Given the description of an element on the screen output the (x, y) to click on. 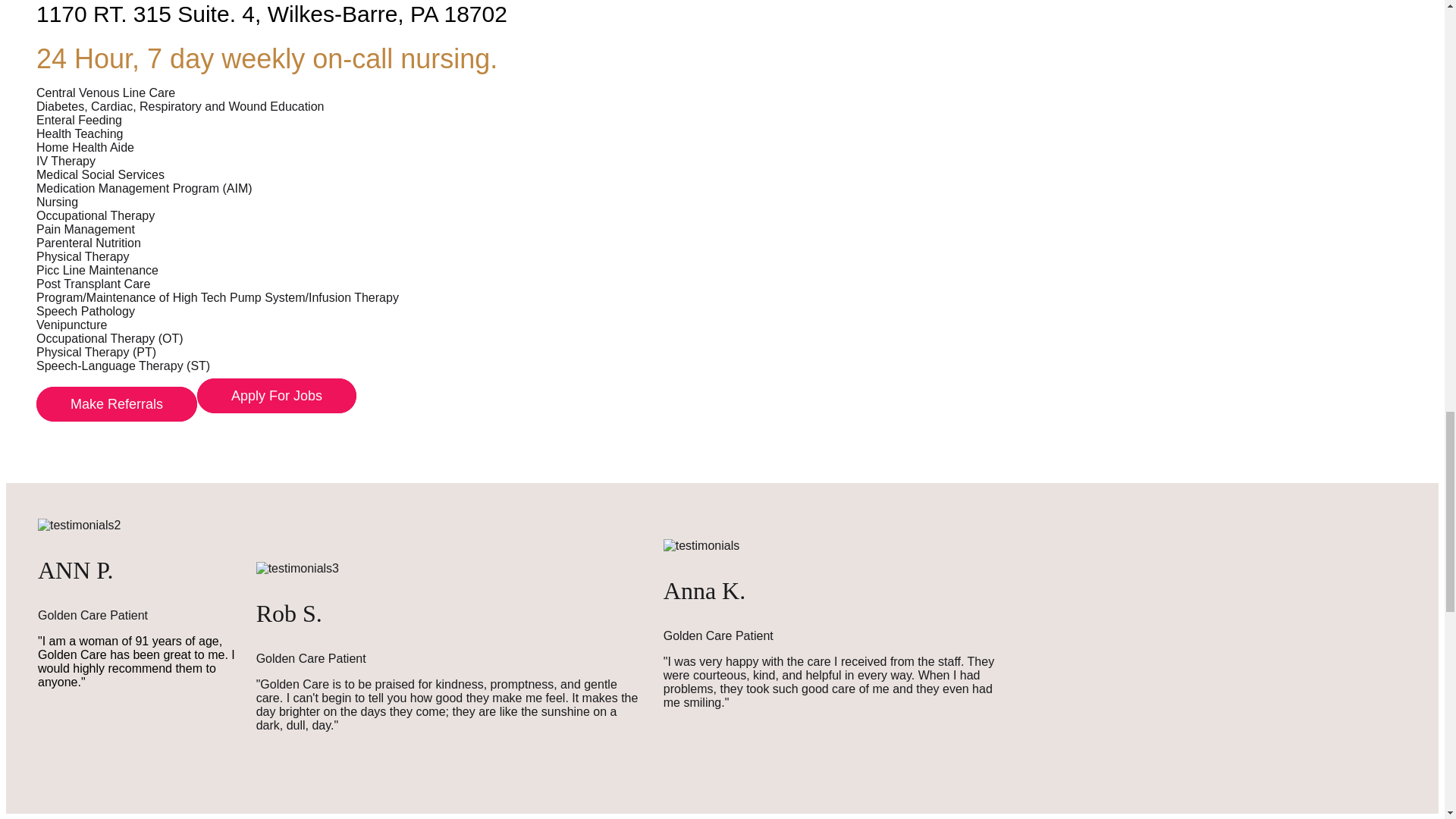
Apply For Jobs (276, 395)
Make Referrals (116, 403)
